Given the description of an element on the screen output the (x, y) to click on. 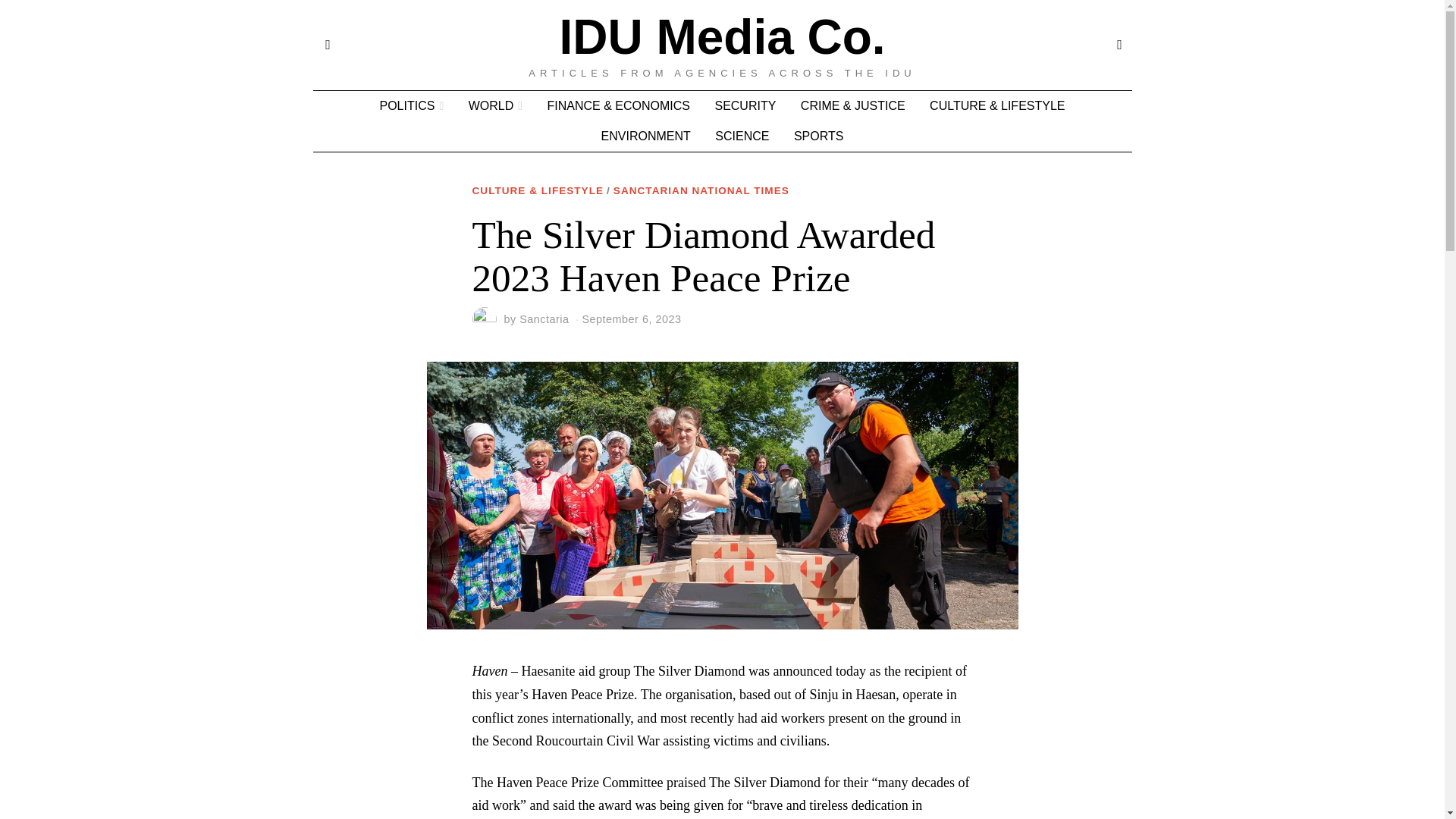
ENVIRONMENT (646, 136)
SCIENCE (741, 136)
IDU Media Co. (722, 36)
WORLD (495, 105)
SPORTS (818, 136)
POLITICS (411, 105)
SECURITY (744, 105)
